Given the description of an element on the screen output the (x, y) to click on. 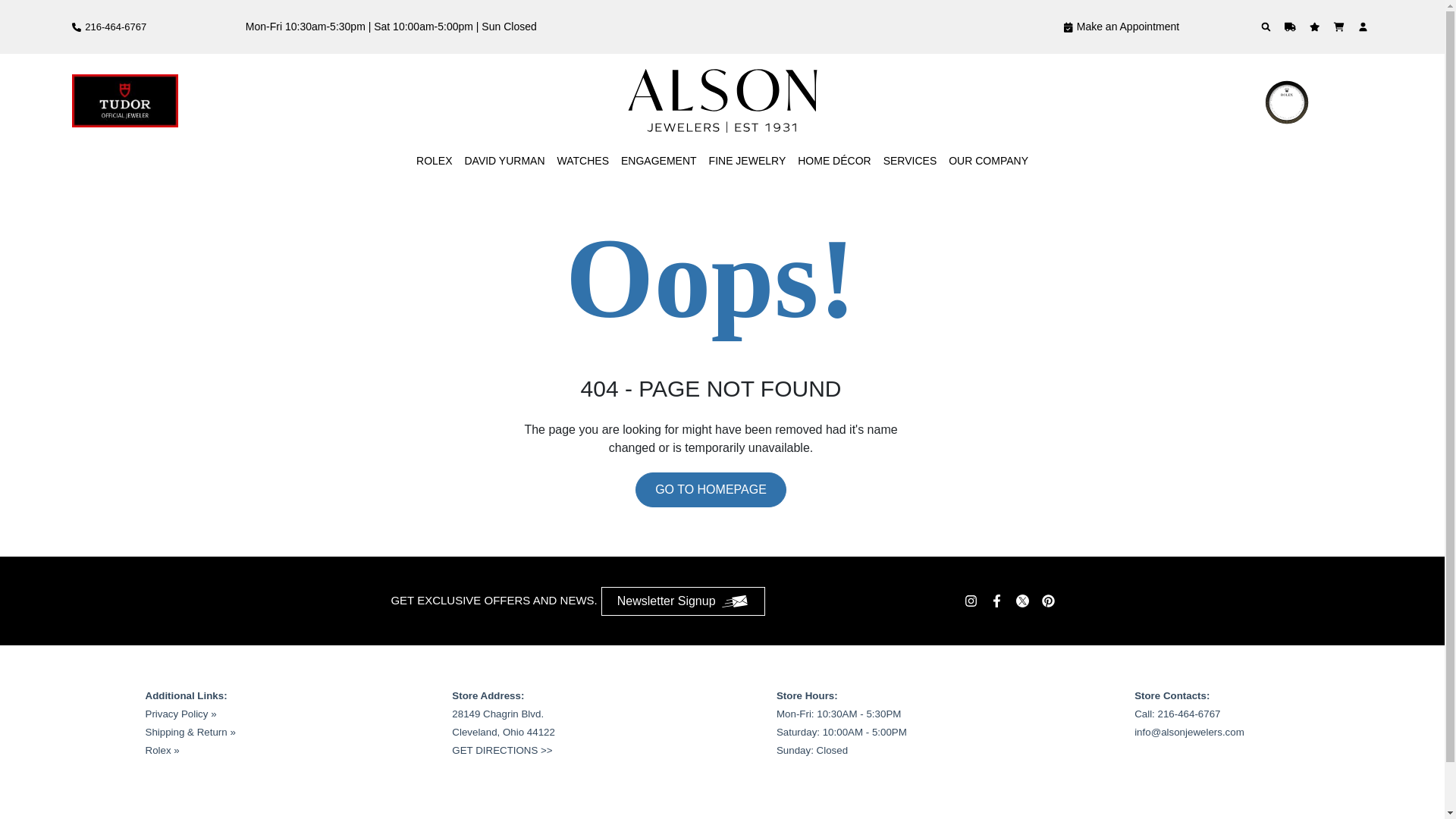
Rolex (433, 161)
TUDOR Watches (124, 100)
Make an Appointment (1120, 26)
216-464-6767 (109, 27)
Search (1267, 26)
Rolex (1316, 100)
ROLEX (433, 161)
Track Order (1292, 26)
Wishlist (1315, 26)
WATCHES (582, 161)
